Given the description of an element on the screen output the (x, y) to click on. 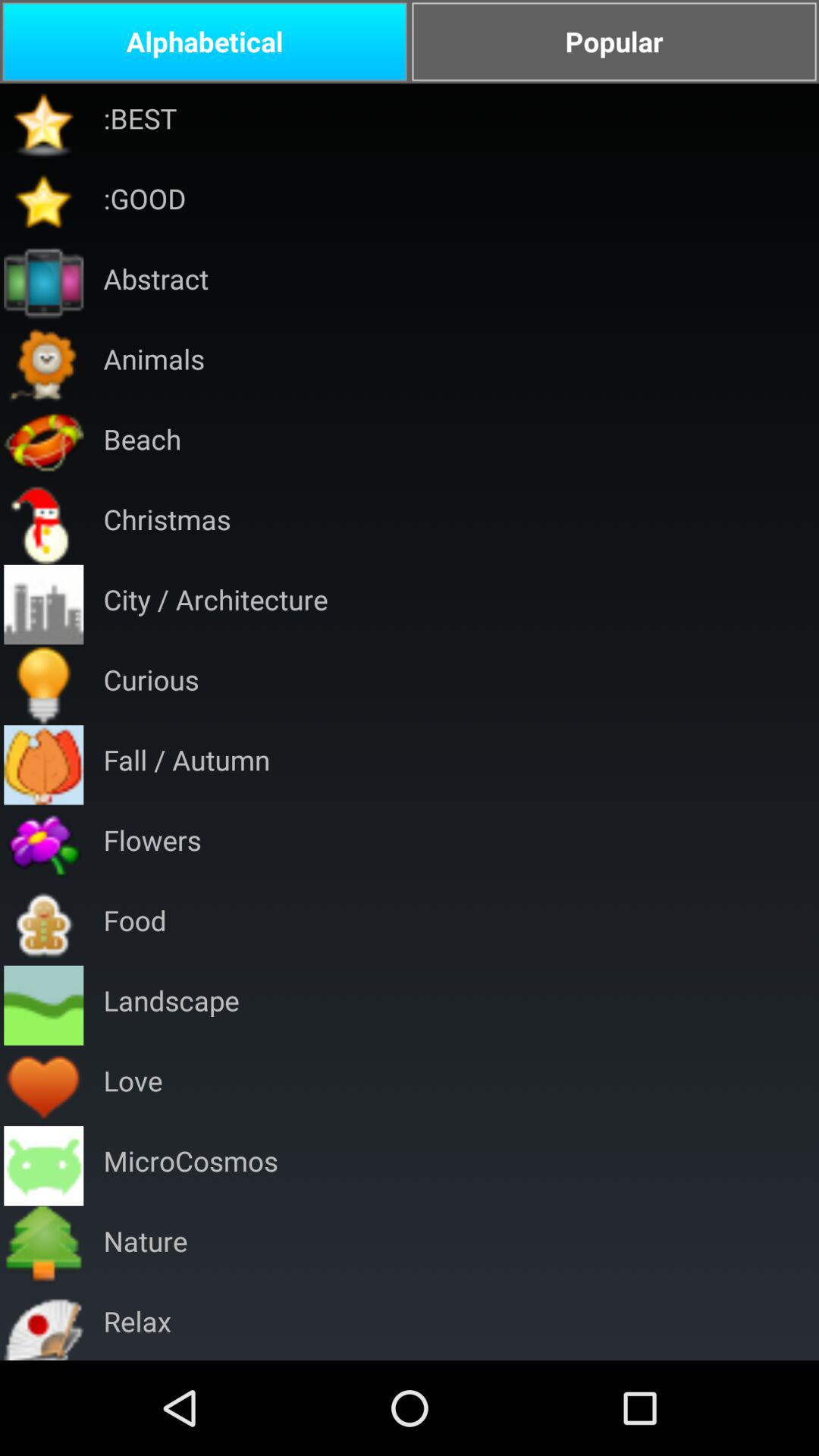
launch the curious item (150, 684)
